Given the description of an element on the screen output the (x, y) to click on. 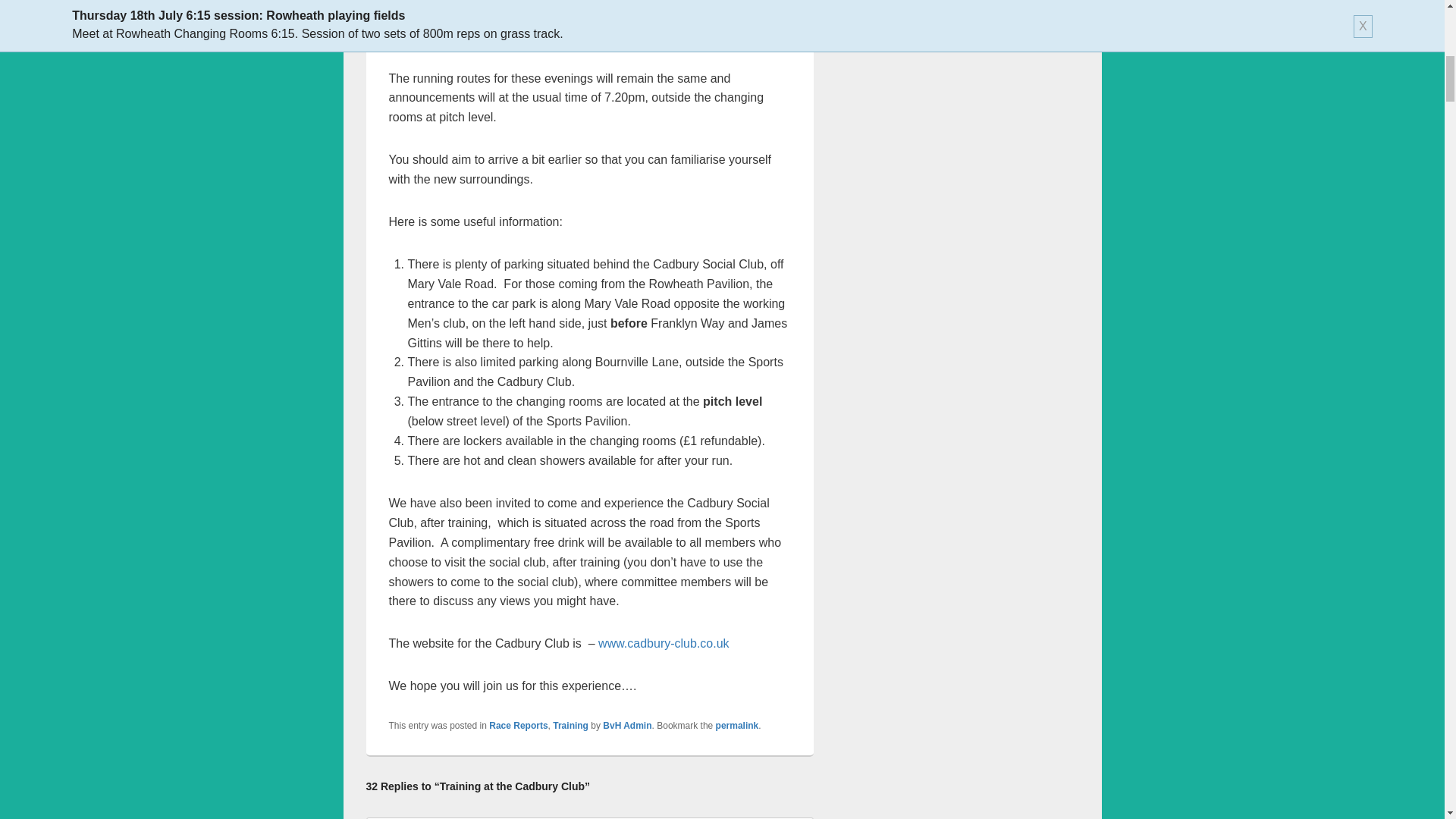
Permalink to Training at the Cadbury Club (737, 725)
